Given the description of an element on the screen output the (x, y) to click on. 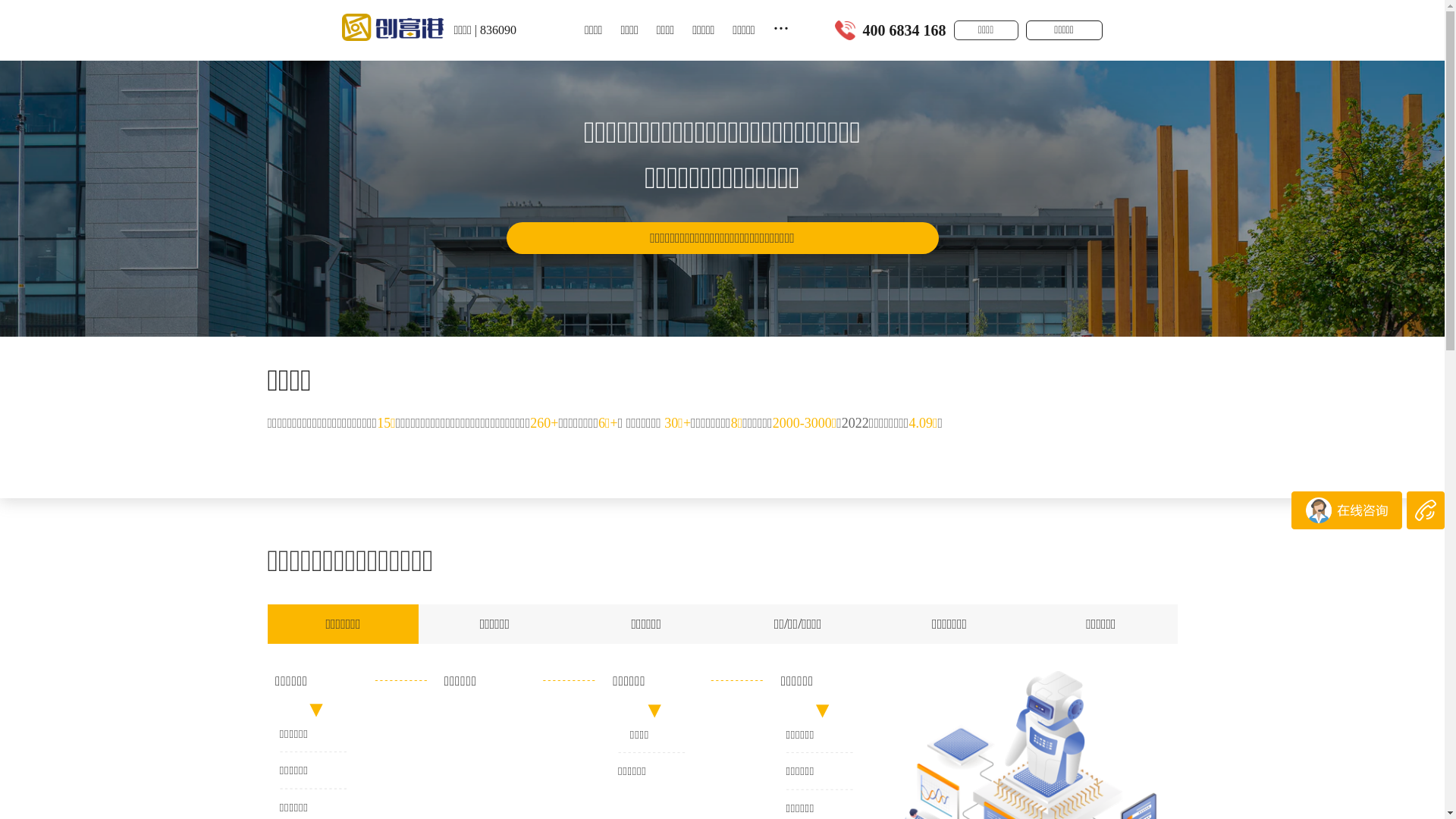
400 6834 168 Element type: text (904, 29)
